Given the description of an element on the screen output the (x, y) to click on. 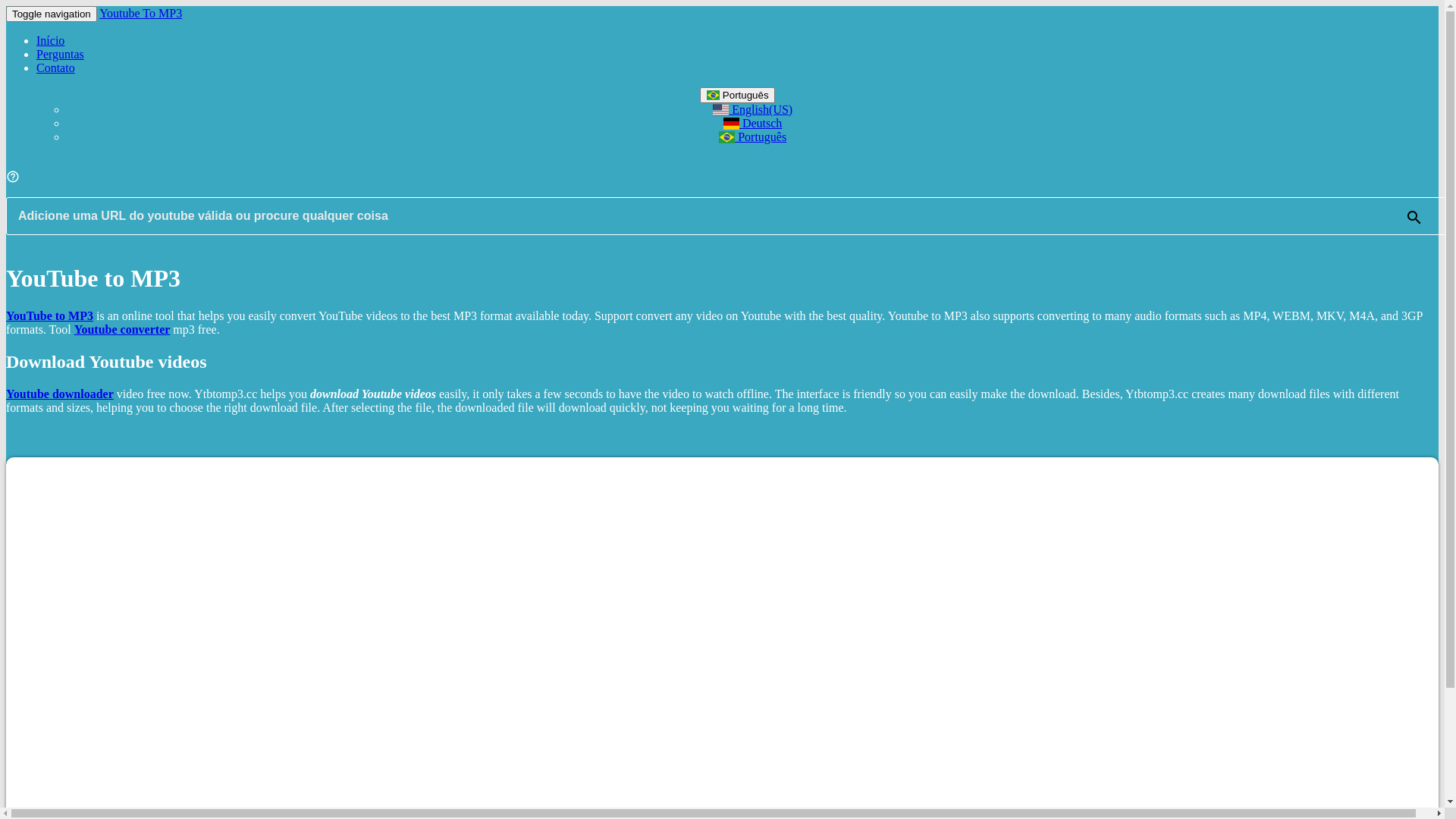
Toggle navigation Element type: text (51, 13)
Youtube downloader Element type: text (59, 393)
Perguntas Element type: text (60, 53)
Youtube converter Element type: text (122, 329)
Contato Element type: text (55, 67)
search Element type: text (1413, 217)
YouTube to MP3 Element type: text (49, 315)
English(US) Element type: text (752, 109)
Youtube To MP3 Element type: text (140, 12)
Deutsch Element type: text (752, 122)
